Given the description of an element on the screen output the (x, y) to click on. 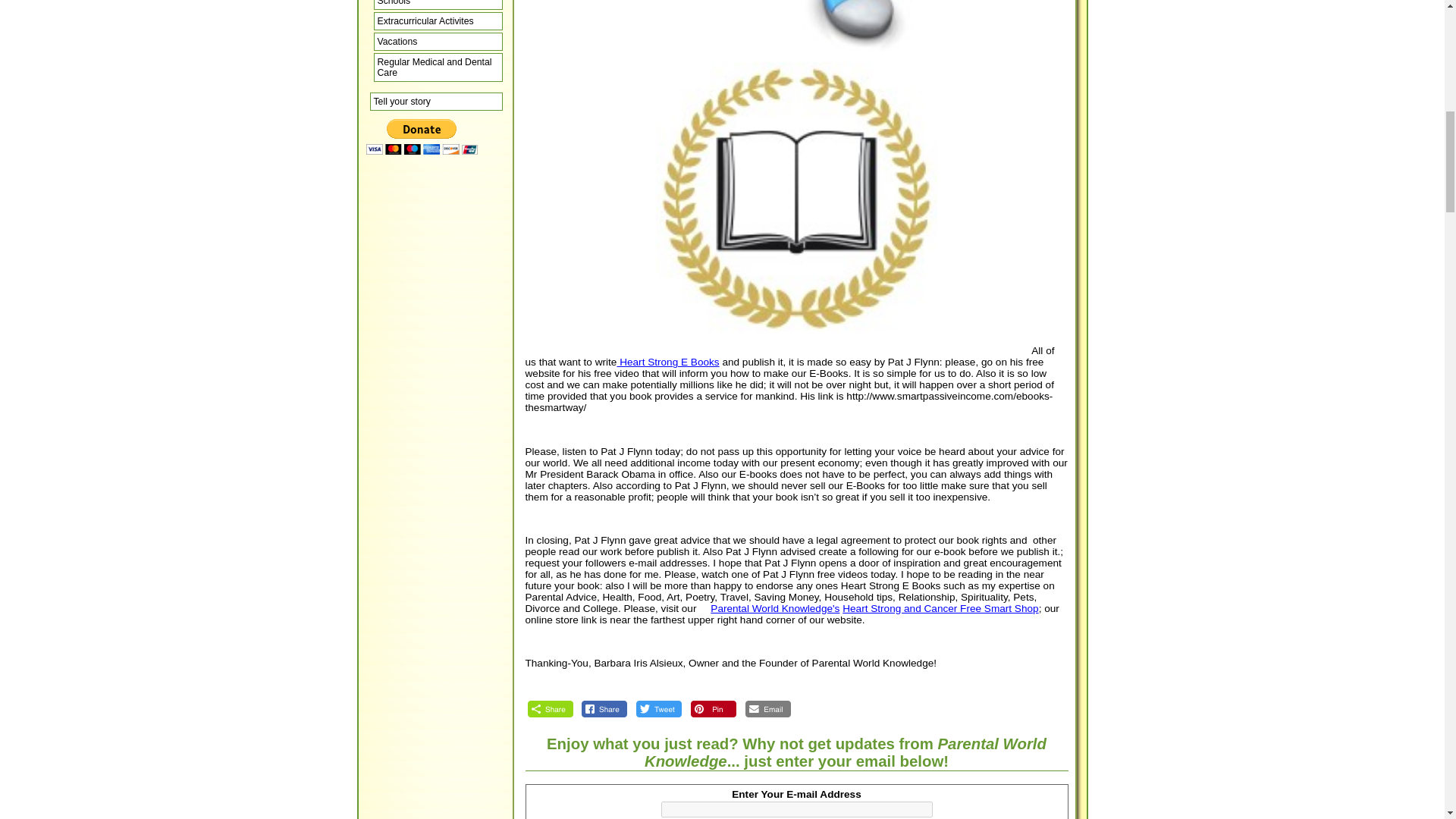
Schools (437, 4)
Regular Medical and Dental Care (437, 67)
Parental World Knowledge's (775, 608)
Vacations (437, 41)
Heart Strong E Books (667, 361)
Extracurricular Activites (437, 21)
Tell your story (435, 101)
Heart Strong and Cancer Free Smart Shop (940, 608)
